Given the description of an element on the screen output the (x, y) to click on. 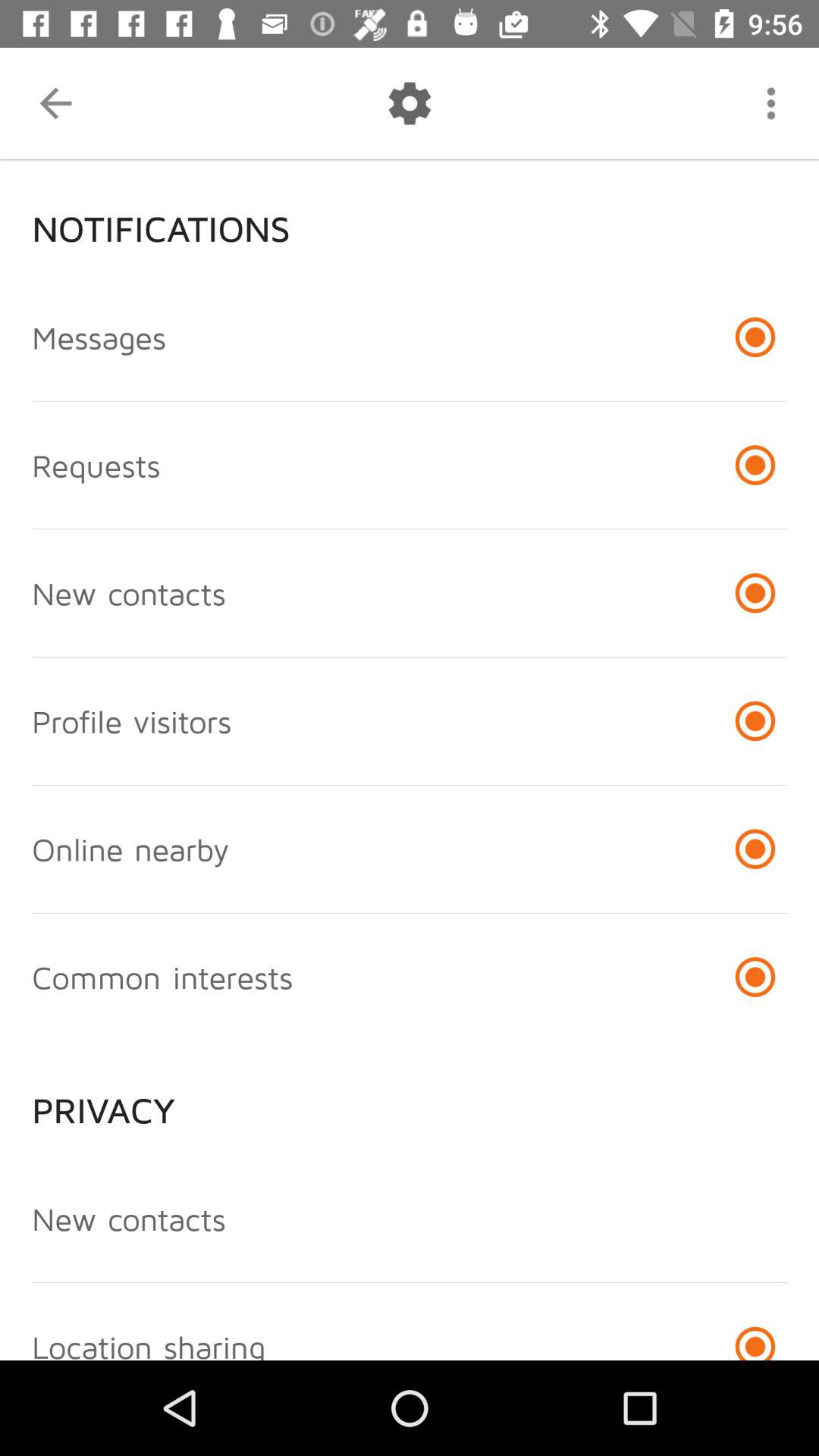
jump until profile visitors (131, 720)
